Given the description of an element on the screen output the (x, y) to click on. 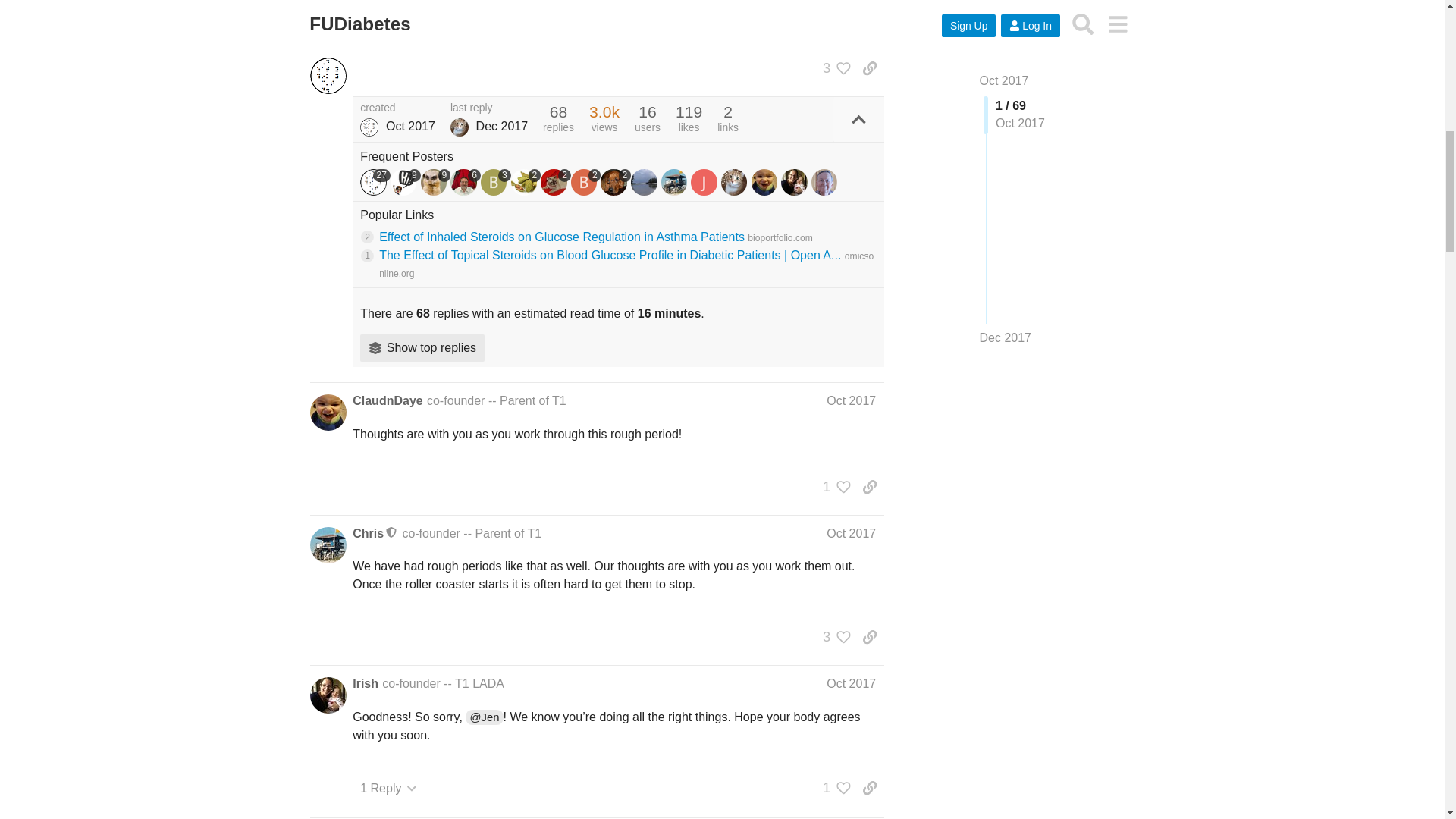
3 (832, 68)
copy a link to this post to clipboard (869, 68)
3 people liked this post (832, 68)
last reply (488, 108)
Jen (368, 126)
collapse topic details (857, 119)
Oct 31, 2017 1:30 am (410, 125)
9 (405, 181)
27 (374, 181)
